Given the description of an element on the screen output the (x, y) to click on. 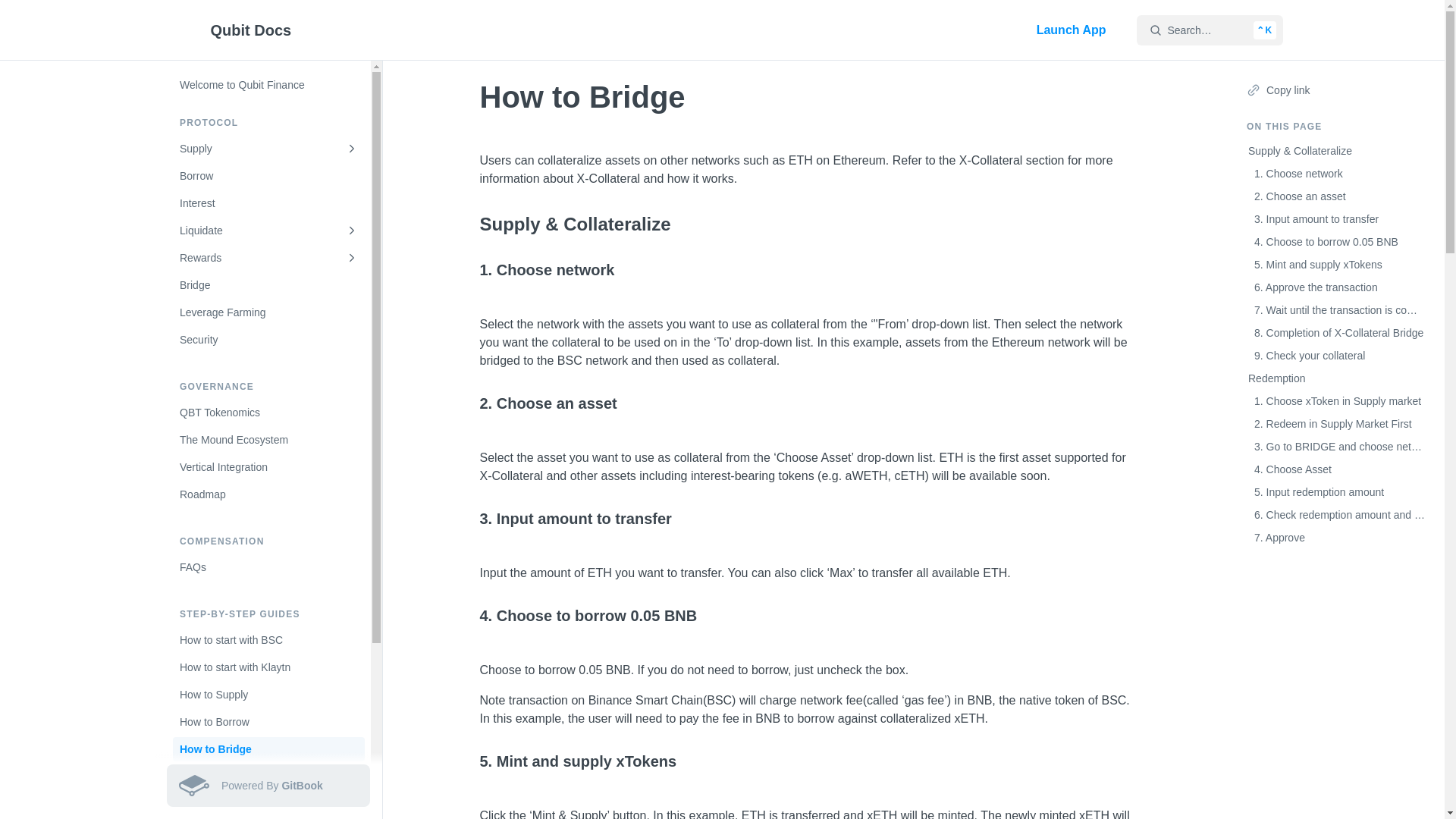
Supply (269, 148)
How to Borrow (269, 721)
Launch App (1071, 30)
The Mound Ecosystem (269, 439)
Terms of Use (269, 814)
Bridge (269, 284)
FAQs (269, 567)
QBT Tokenomics (269, 412)
Leverage Farming (269, 312)
Rewards (269, 257)
